Given the description of an element on the screen output the (x, y) to click on. 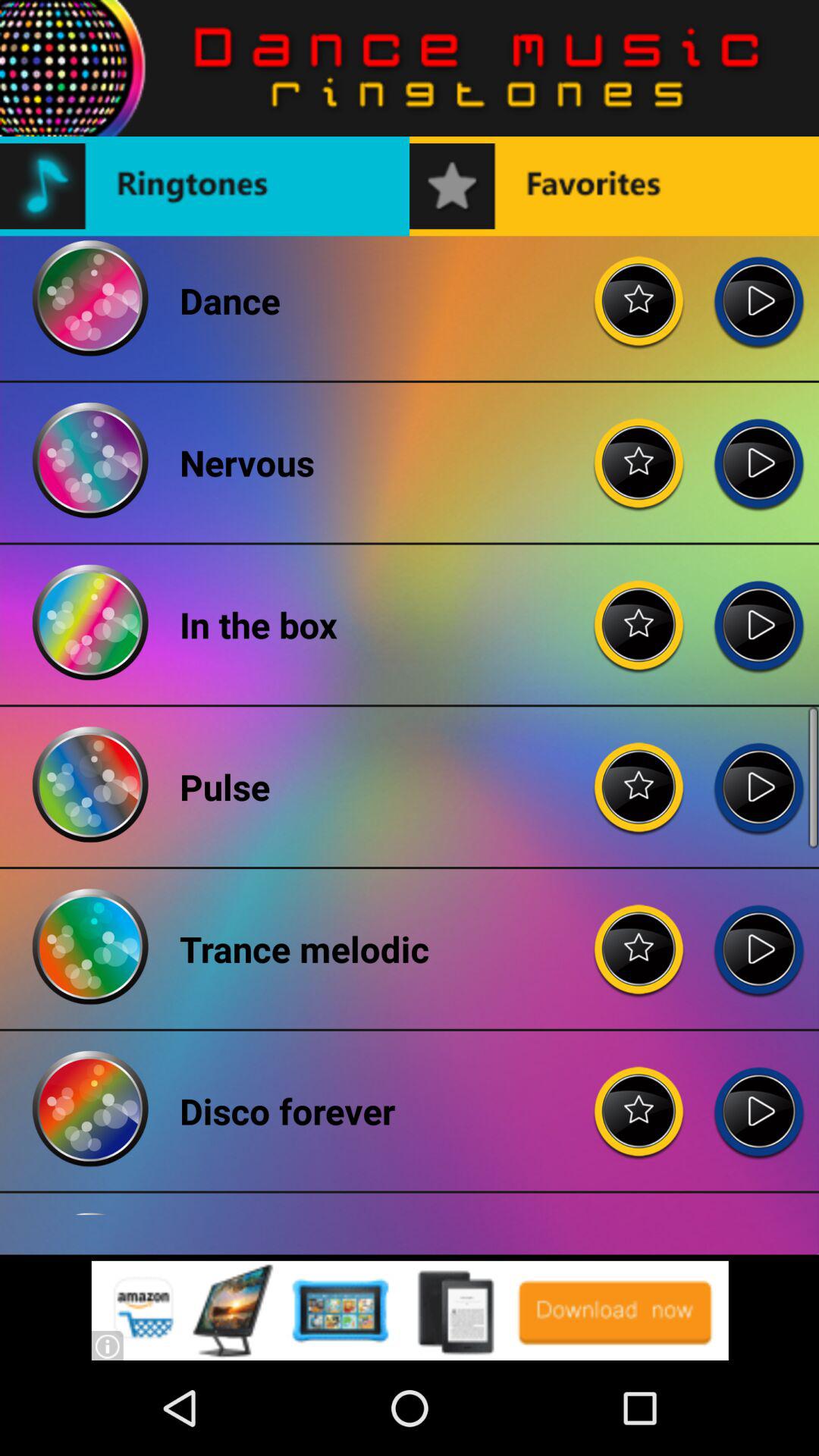
play song (758, 775)
